Given the description of an element on the screen output the (x, y) to click on. 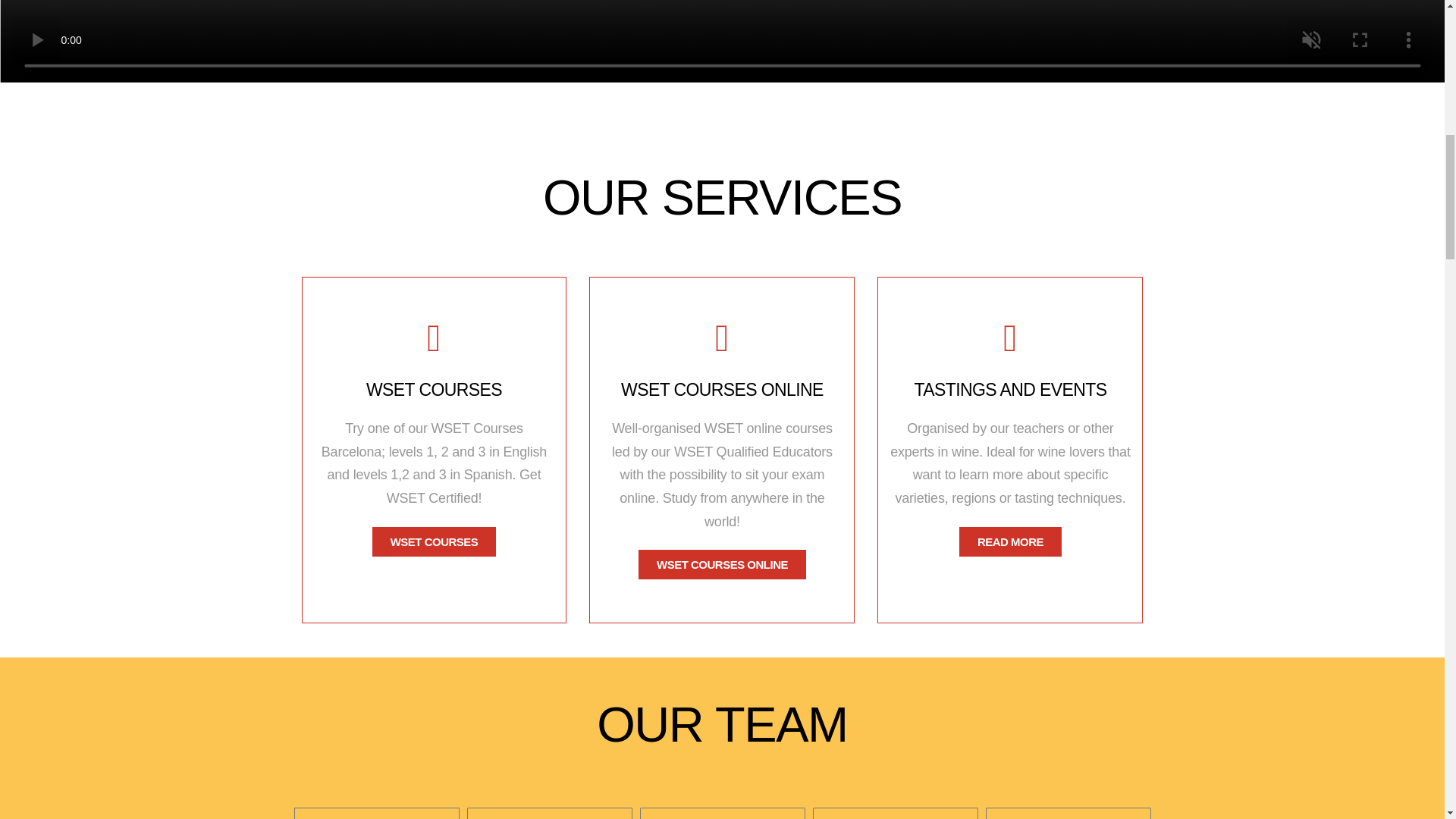
WSET COURSES ONLINE (722, 563)
HOME - Rack and Return (722, 817)
WSET COURSES (434, 541)
READ MORE (1010, 541)
